Given the description of an element on the screen output the (x, y) to click on. 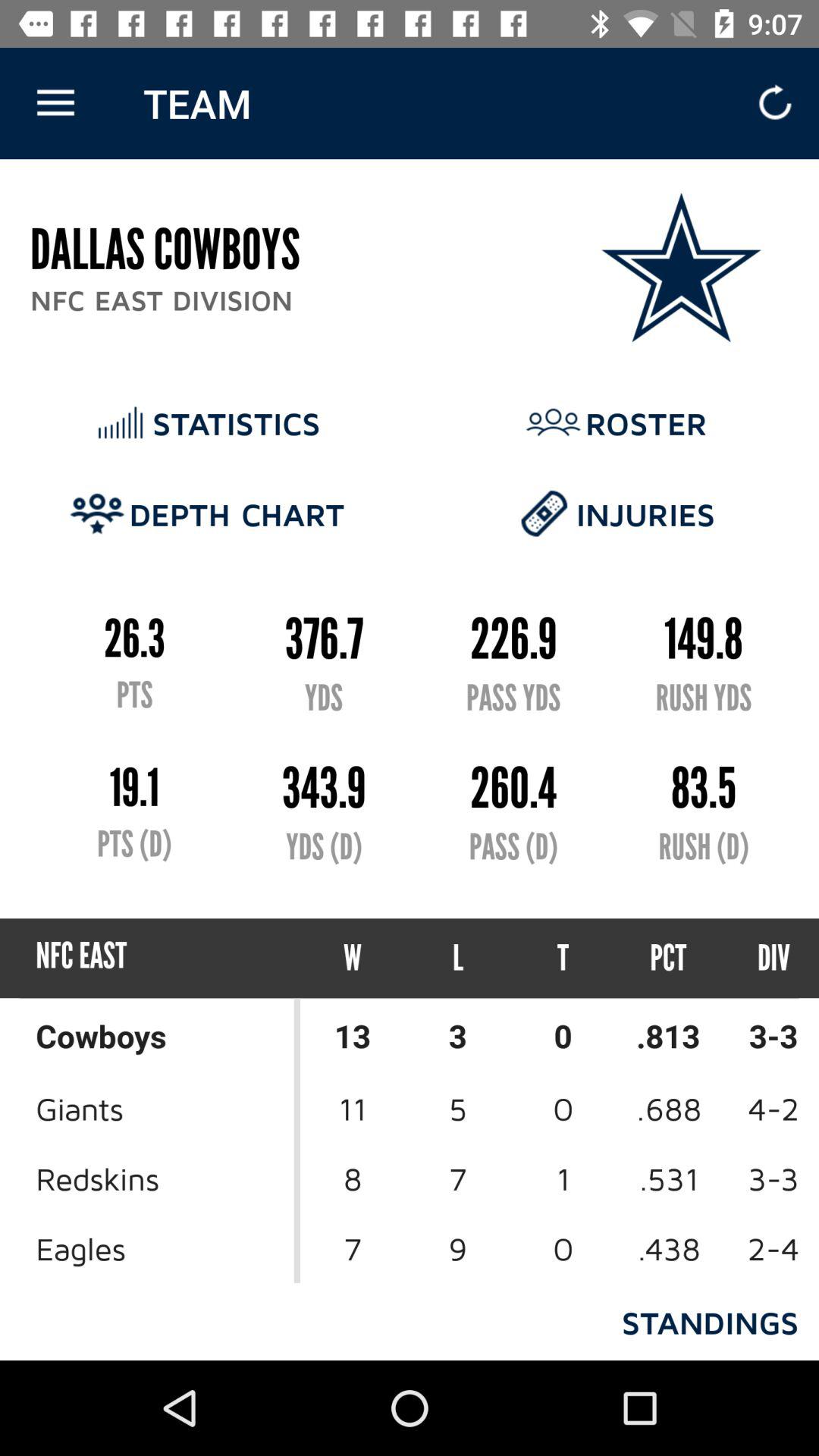
tap the icon below the rush (d) item (668, 958)
